Given the description of an element on the screen output the (x, y) to click on. 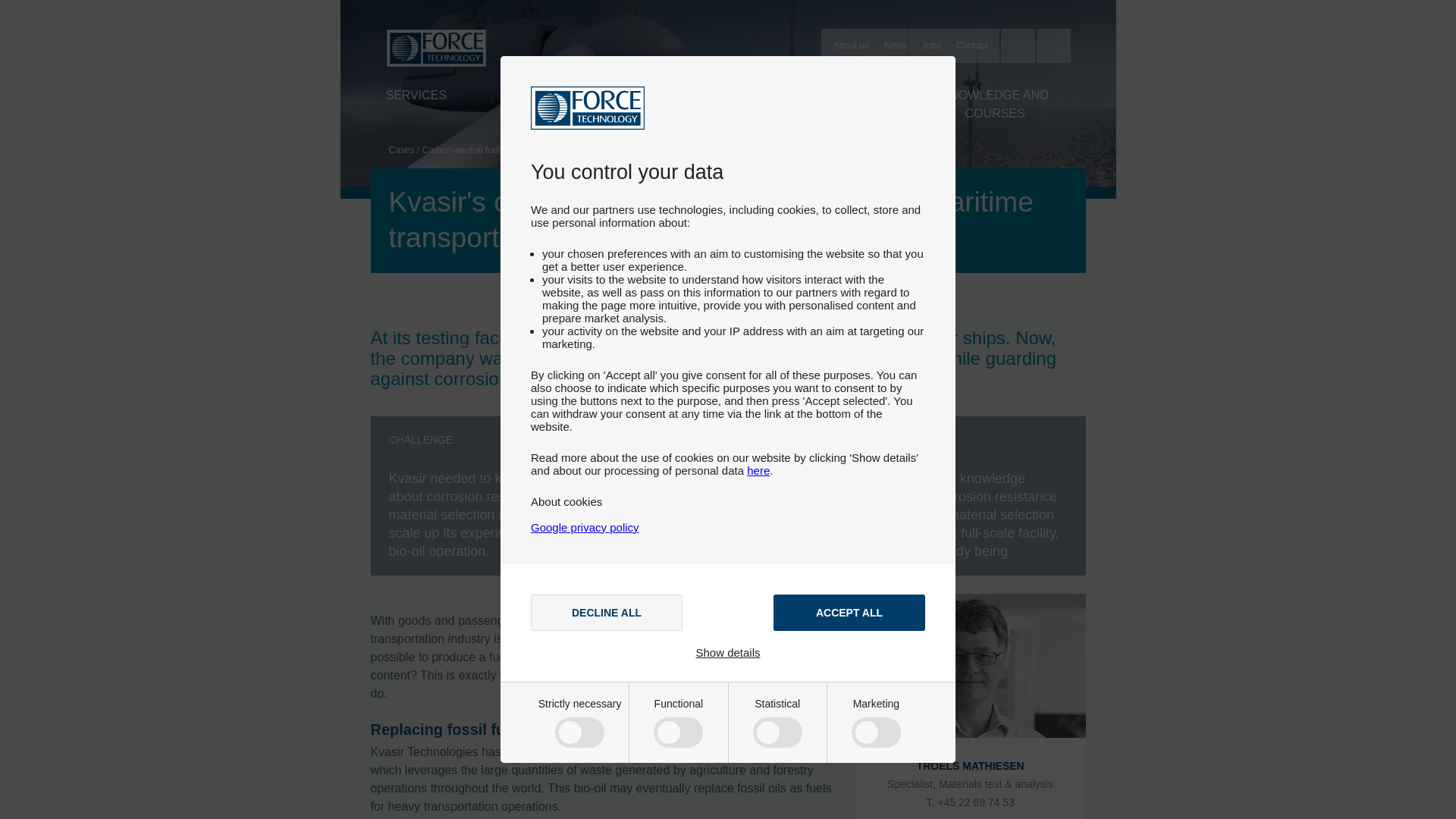
Google privacy policy (585, 526)
Show details (727, 652)
ACCEPT ALL (848, 612)
About cookies (566, 501)
DECLINE ALL (606, 612)
here (758, 470)
